Given the description of an element on the screen output the (x, y) to click on. 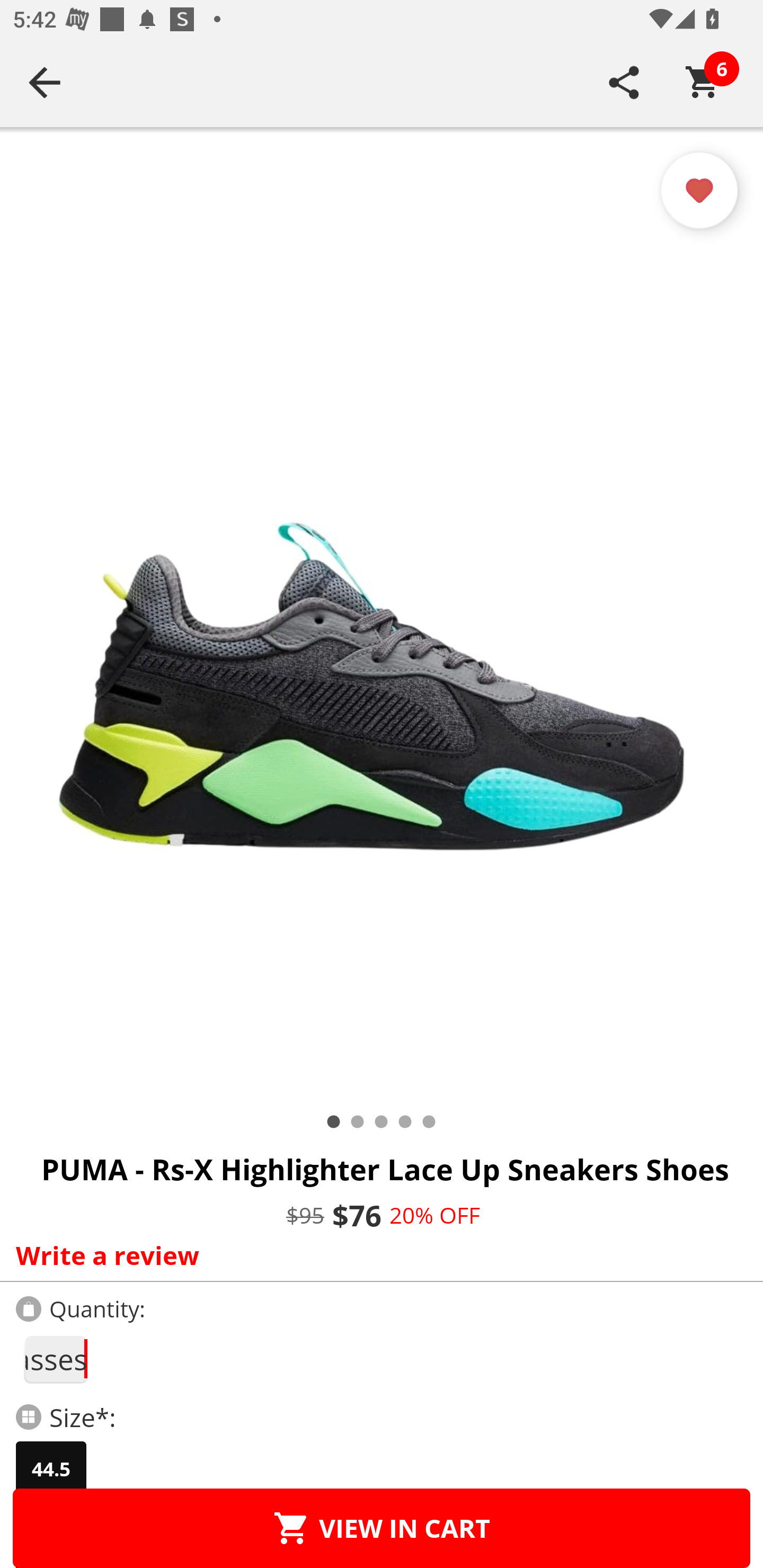
Navigate up (44, 82)
SHARE (623, 82)
Cart (703, 81)
Write a review (377, 1255)
1sunglasses (55, 1358)
44.5 (51, 1468)
VIEW IN CART (381, 1528)
